Given the description of an element on the screen output the (x, y) to click on. 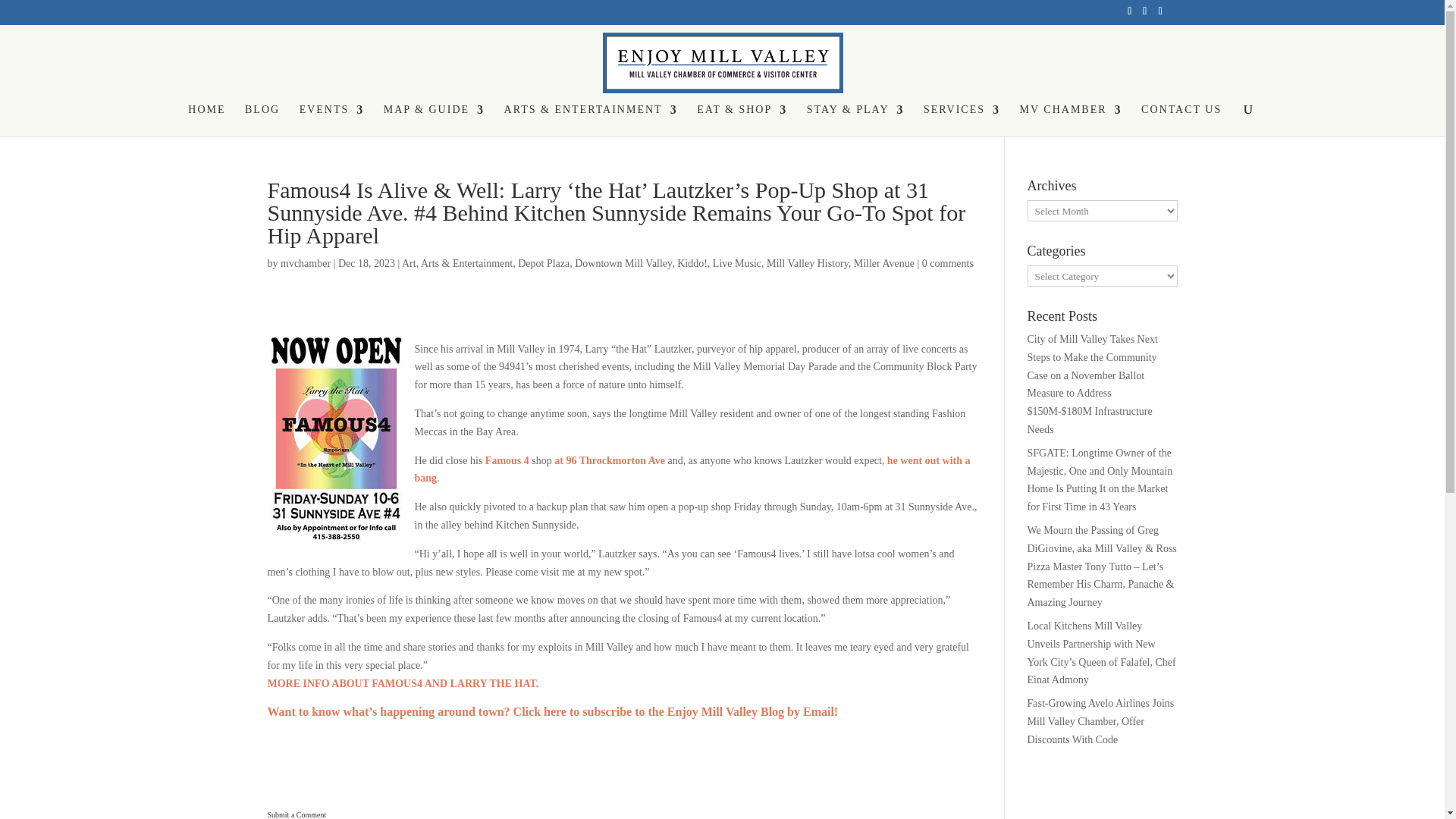
BLOG (261, 120)
Posts by mvchamber (305, 263)
HOME (206, 120)
SERVICES (961, 120)
EVENTS (332, 120)
